Given the description of an element on the screen output the (x, y) to click on. 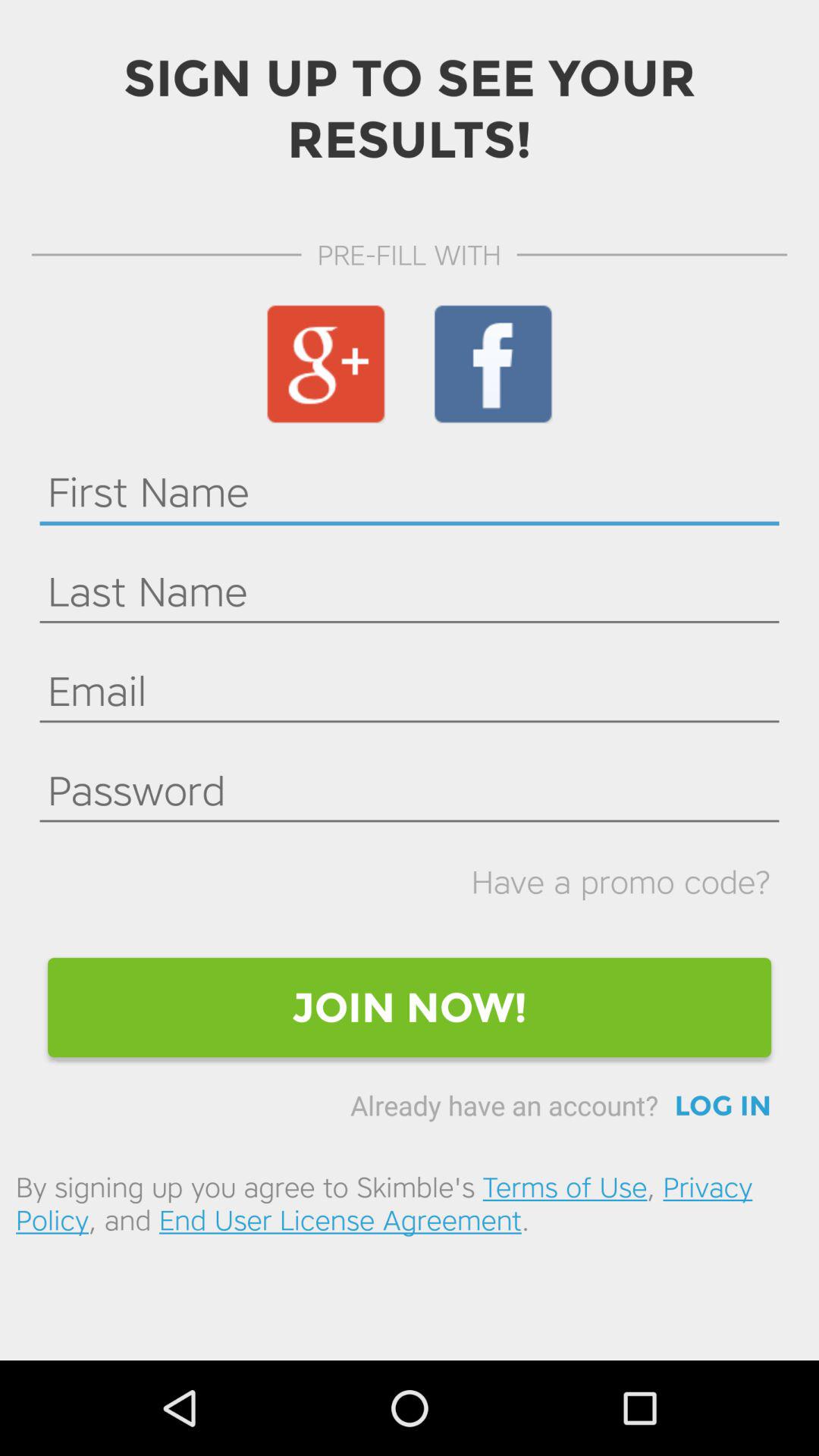
open the icon below pre-fill with icon (492, 363)
